Given the description of an element on the screen output the (x, y) to click on. 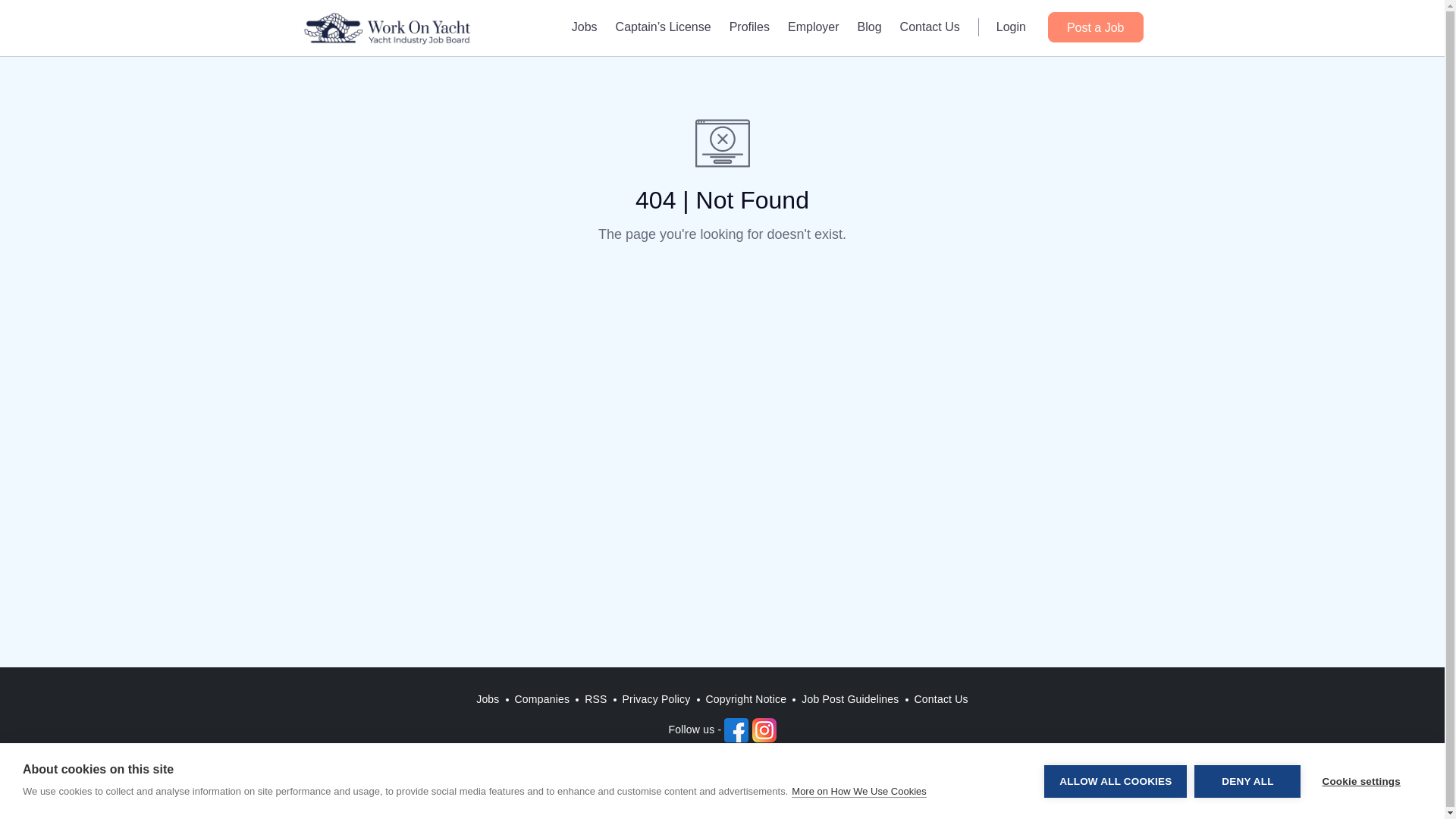
More on How We Use Cookies (859, 791)
Jobs (584, 26)
Privacy Policy (656, 699)
Post a Job (1095, 27)
Jobs (487, 699)
Copyright Notice (746, 699)
Employer (813, 26)
Cookie settings (1360, 781)
Job Post Guidelines (849, 699)
Contact Us (930, 26)
